Given the description of an element on the screen output the (x, y) to click on. 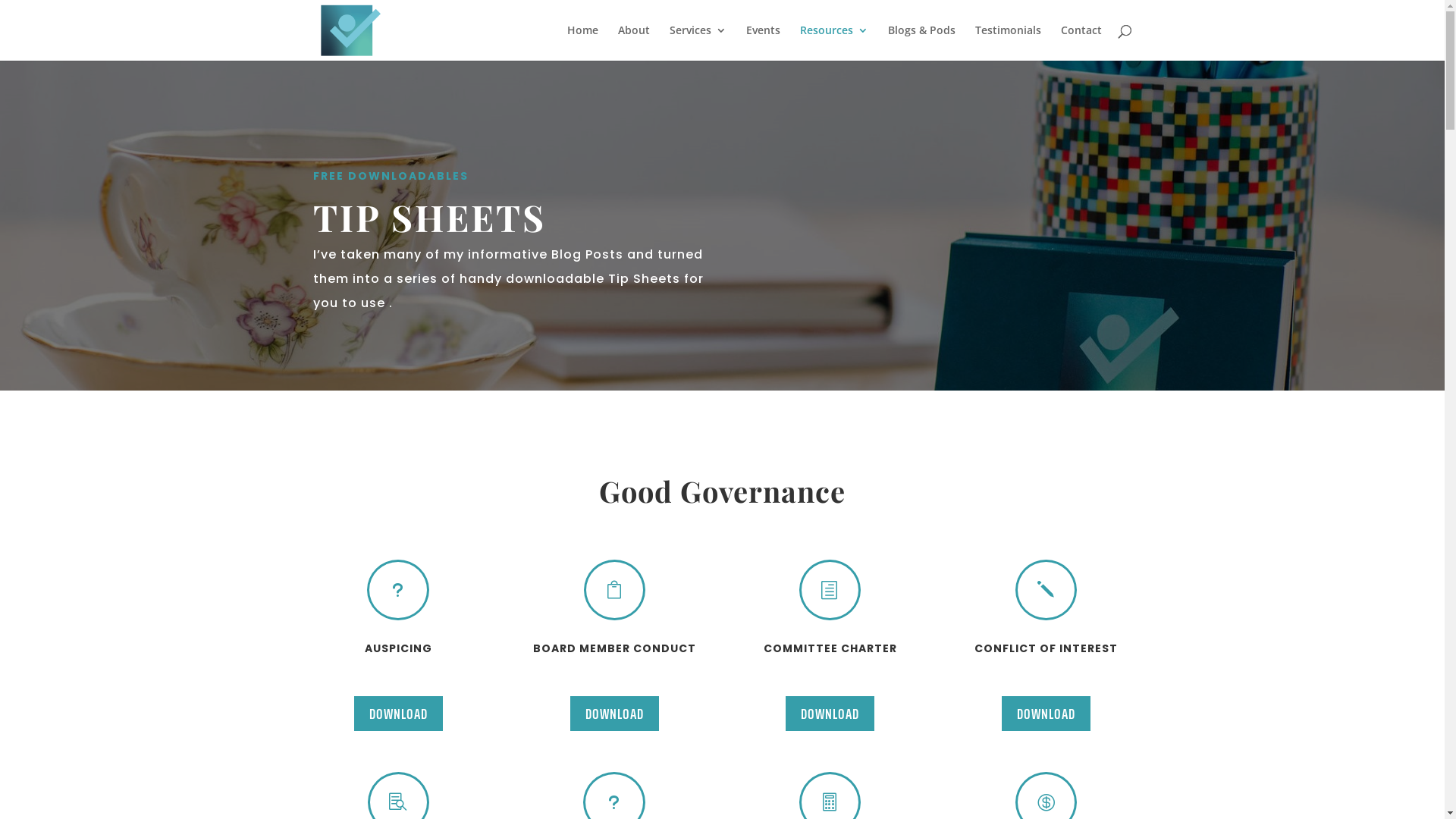
Events Element type: text (763, 42)
Contact Element type: text (1080, 42)
Home Element type: text (582, 42)
DOWNLOAD Element type: text (829, 713)
DOWNLOAD Element type: text (398, 713)
Blogs & Pods Element type: text (920, 42)
Testimonials Element type: text (1008, 42)
About Element type: text (633, 42)
Services Element type: text (696, 42)
DOWNLOAD Element type: text (614, 713)
DOWNLOAD Element type: text (1045, 713)
Resources Element type: text (833, 42)
